Given the description of an element on the screen output the (x, y) to click on. 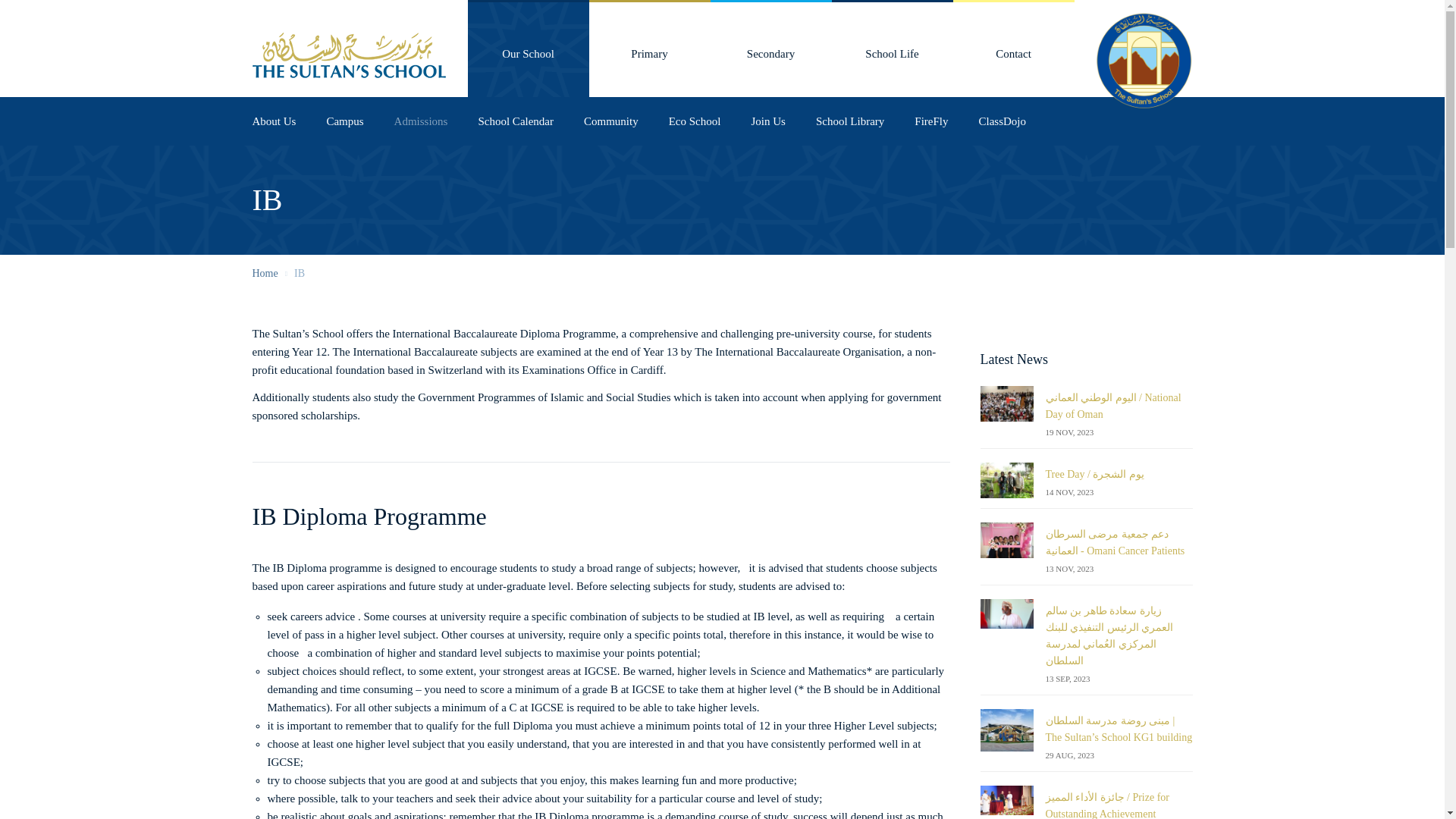
Secondary (770, 48)
The Sultan's School (348, 51)
Contact (1013, 48)
Primary (649, 48)
Our School (527, 48)
Admissions (420, 120)
Campus (344, 120)
School Life (891, 48)
The School (527, 48)
About Us (273, 120)
